Given the description of an element on the screen output the (x, y) to click on. 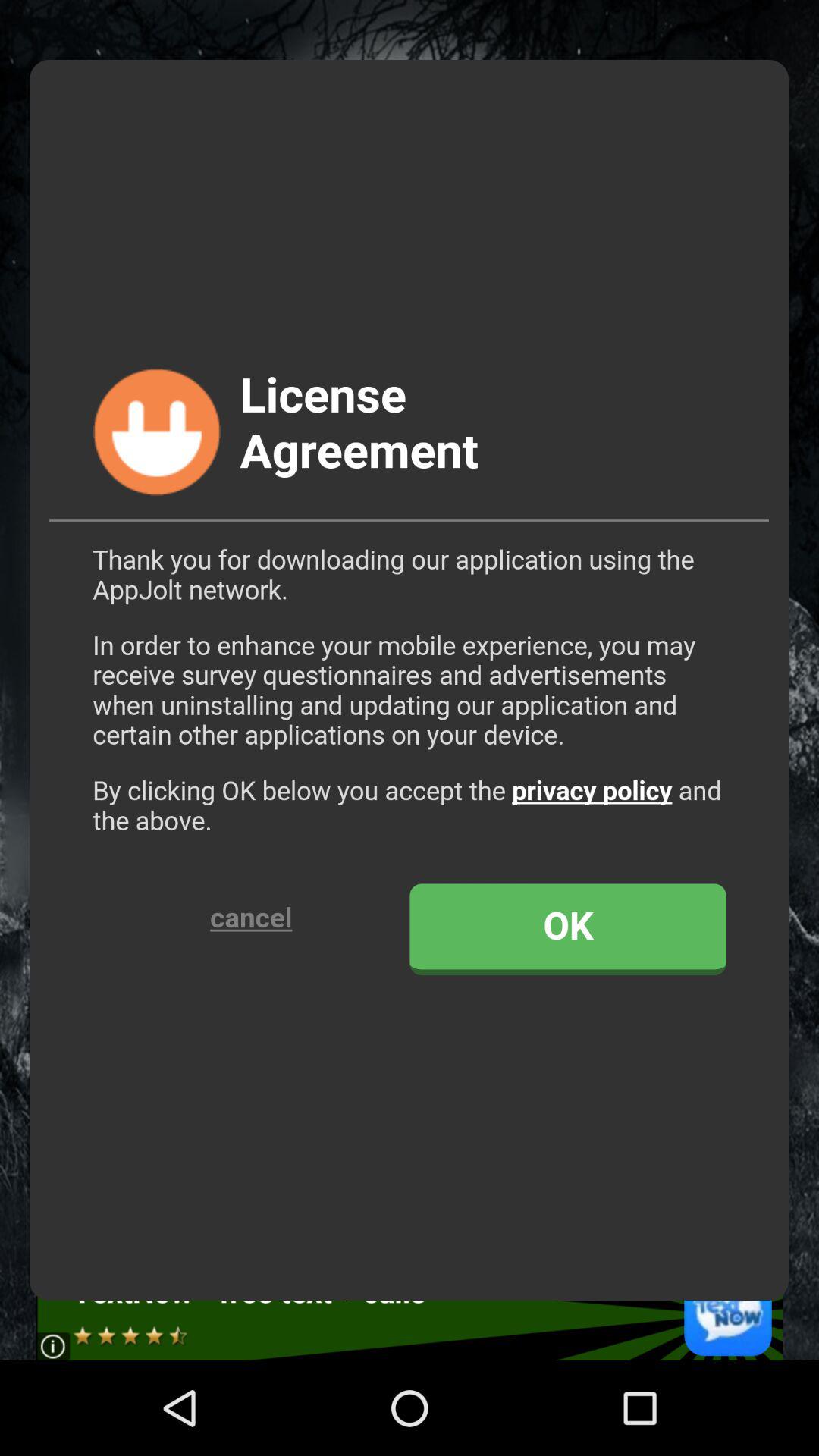
tap the item at the center (408, 679)
